Given the description of an element on the screen output the (x, y) to click on. 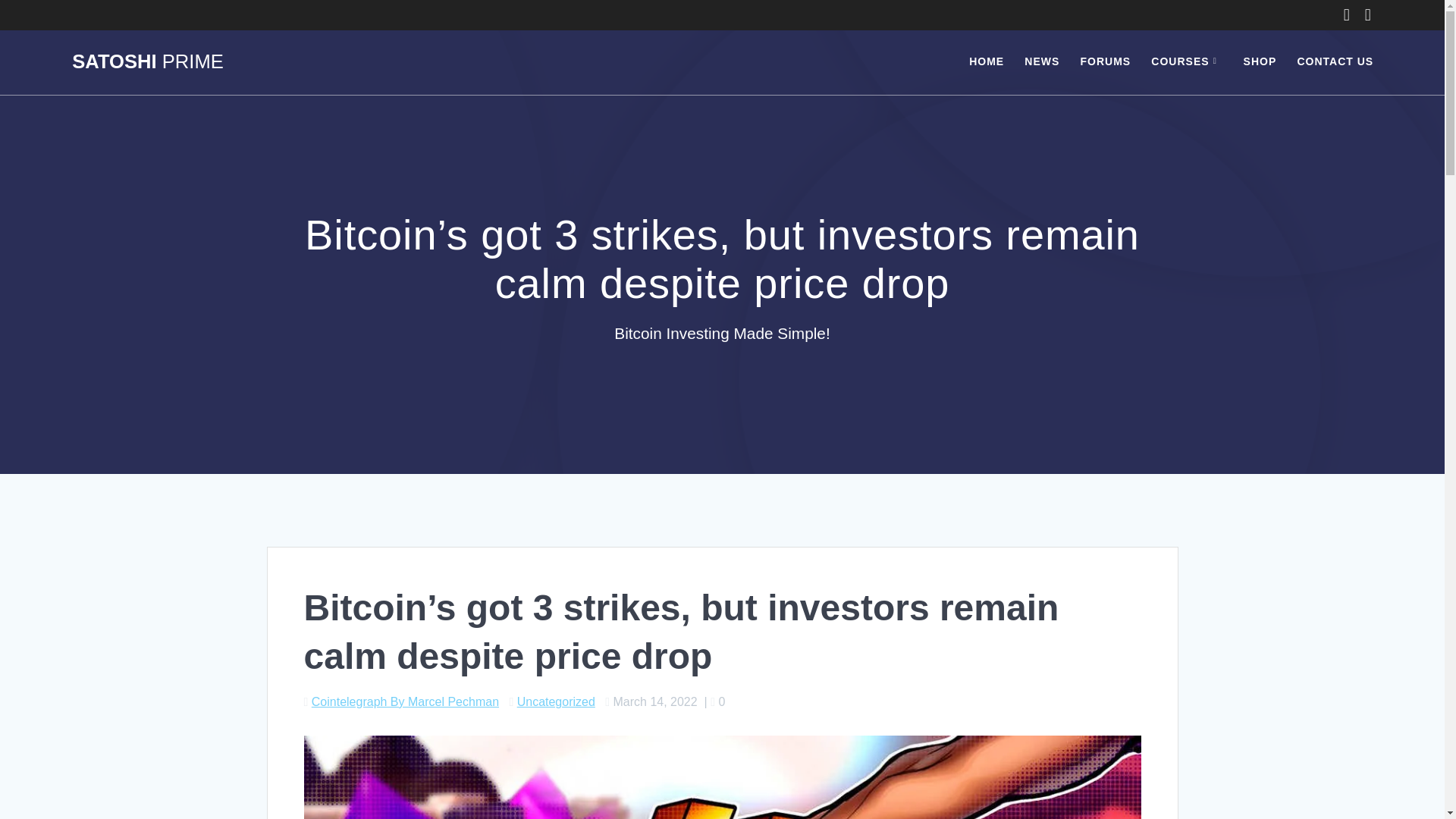
COURSES (1187, 62)
Cointelegraph By Marcel Pechman (405, 701)
SATOSHI PRIME (147, 62)
NEWS (1042, 62)
SHOP (1259, 62)
HOME (986, 62)
FORUMS (1105, 62)
CONTACT US (1335, 62)
Posts by Cointelegraph By Marcel Pechman (405, 701)
Uncategorized (555, 701)
